Given the description of an element on the screen output the (x, y) to click on. 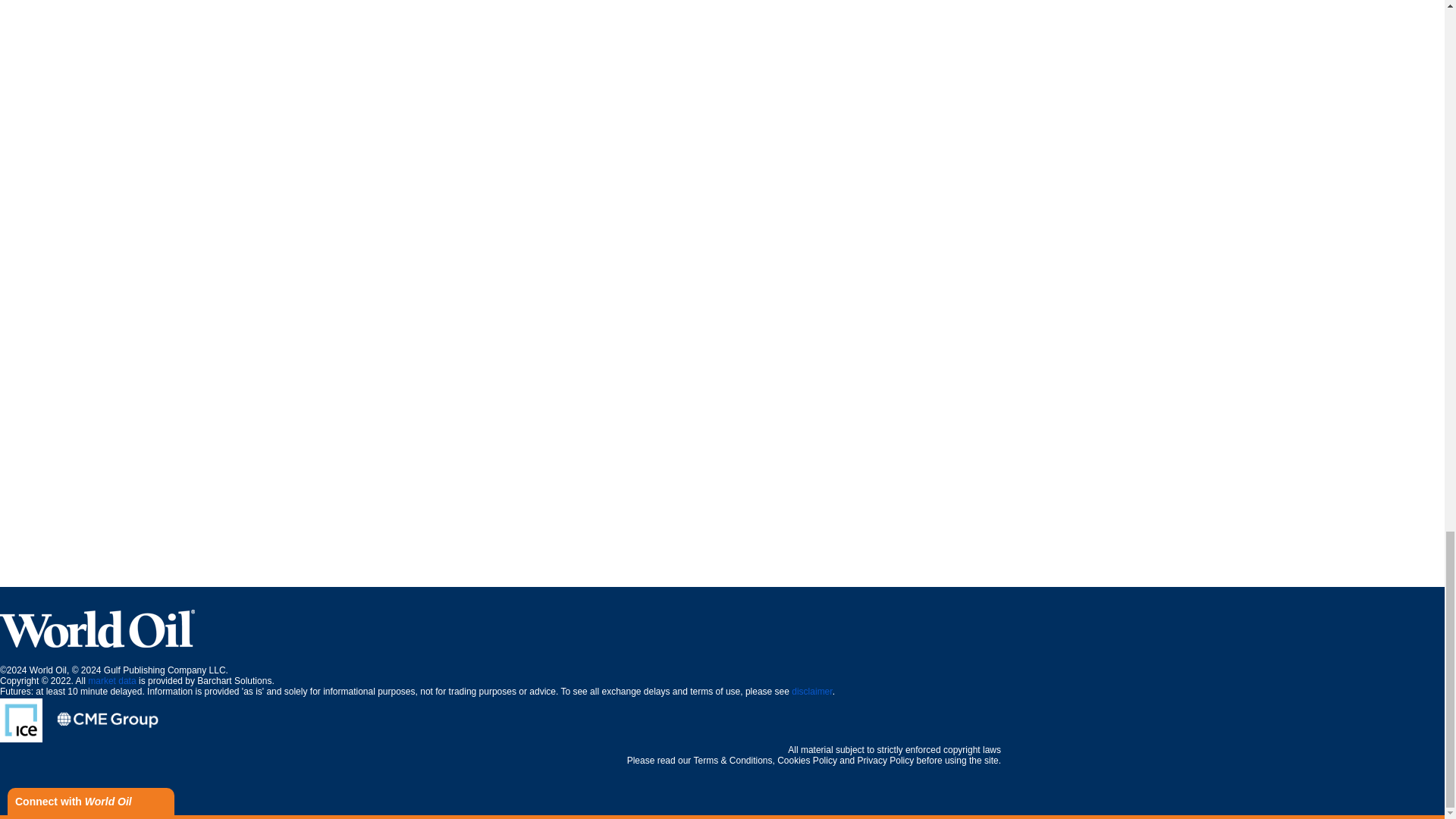
3rd party ad content (721, 552)
